Given the description of an element on the screen output the (x, y) to click on. 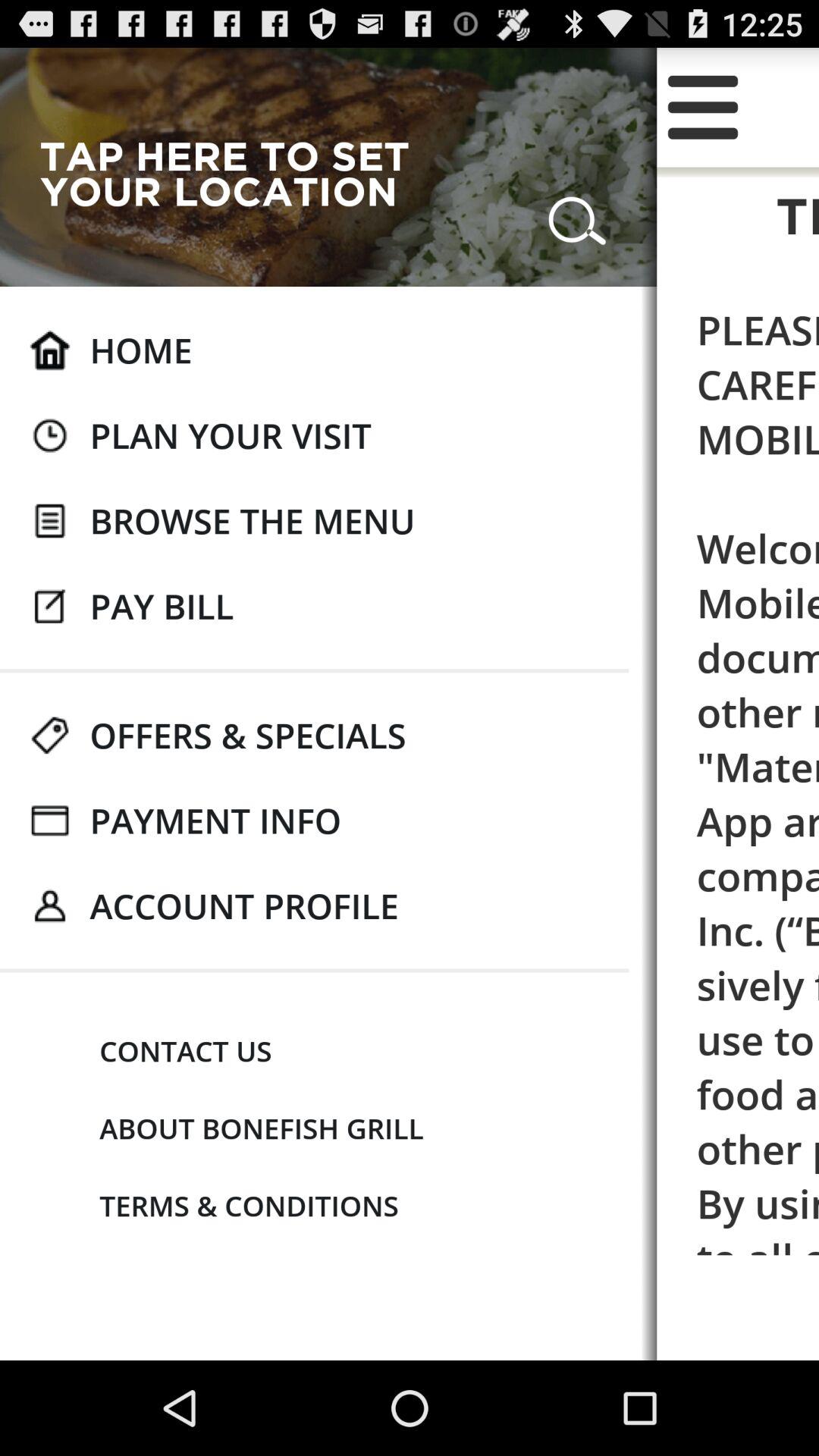
launch the app to the right of tap here to icon (576, 214)
